Given the description of an element on the screen output the (x, y) to click on. 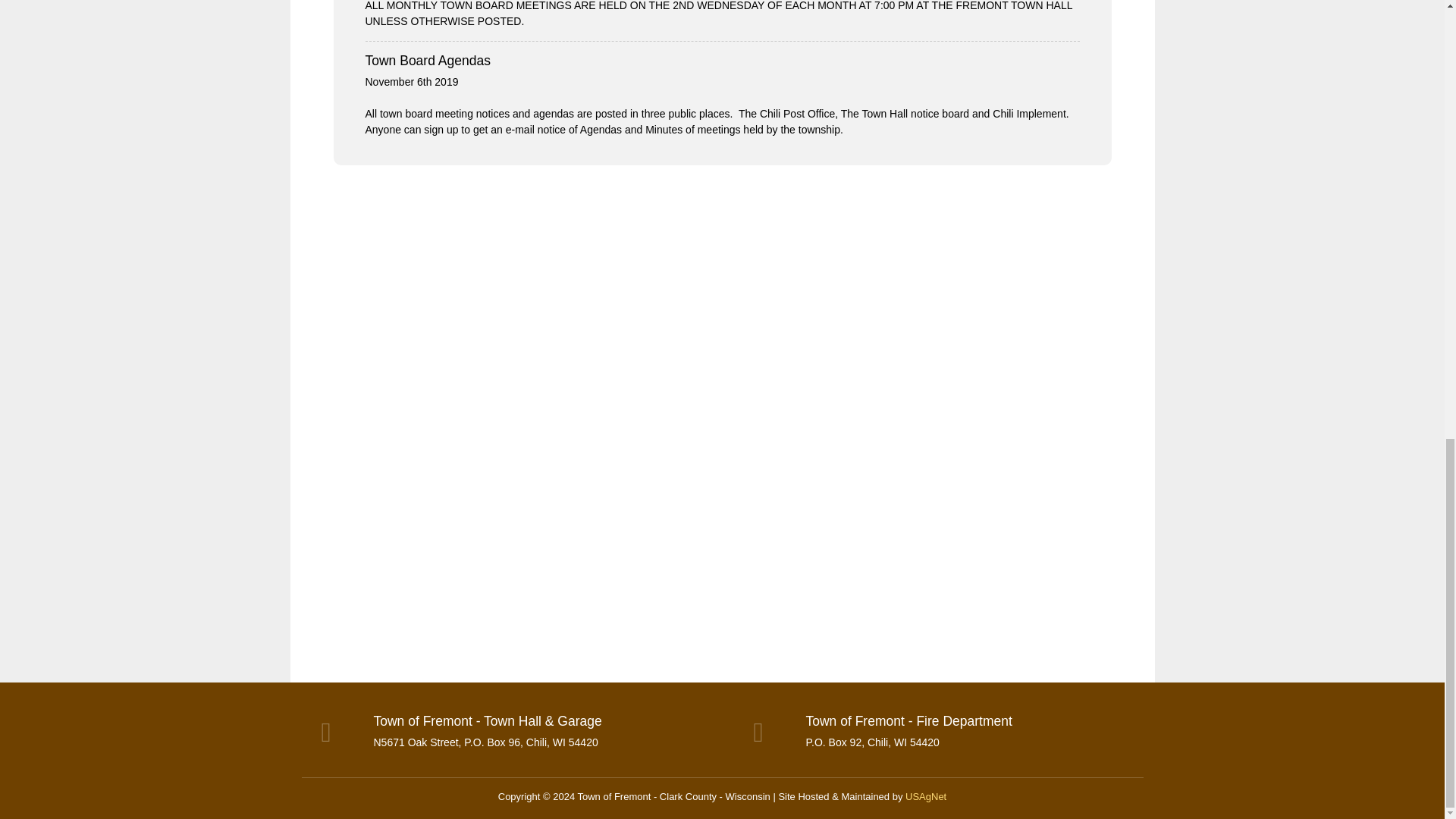
USAgNet (925, 796)
